Given the description of an element on the screen output the (x, y) to click on. 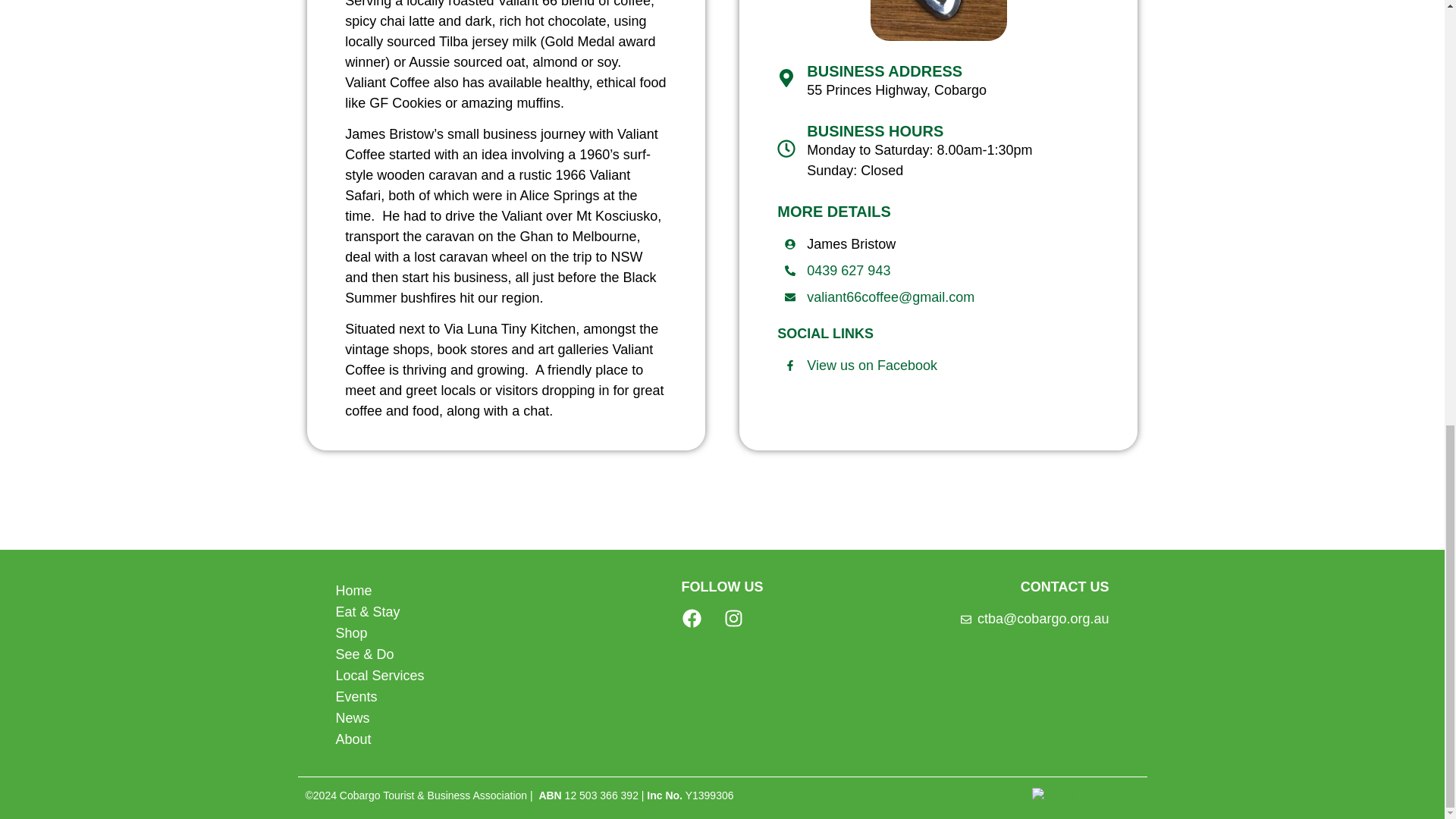
Events (452, 696)
Home (452, 590)
Local Services (452, 675)
Shop (452, 632)
About (452, 739)
0439 627 943 (836, 271)
News (452, 717)
View us on Facebook (860, 365)
